Given the description of an element on the screen output the (x, y) to click on. 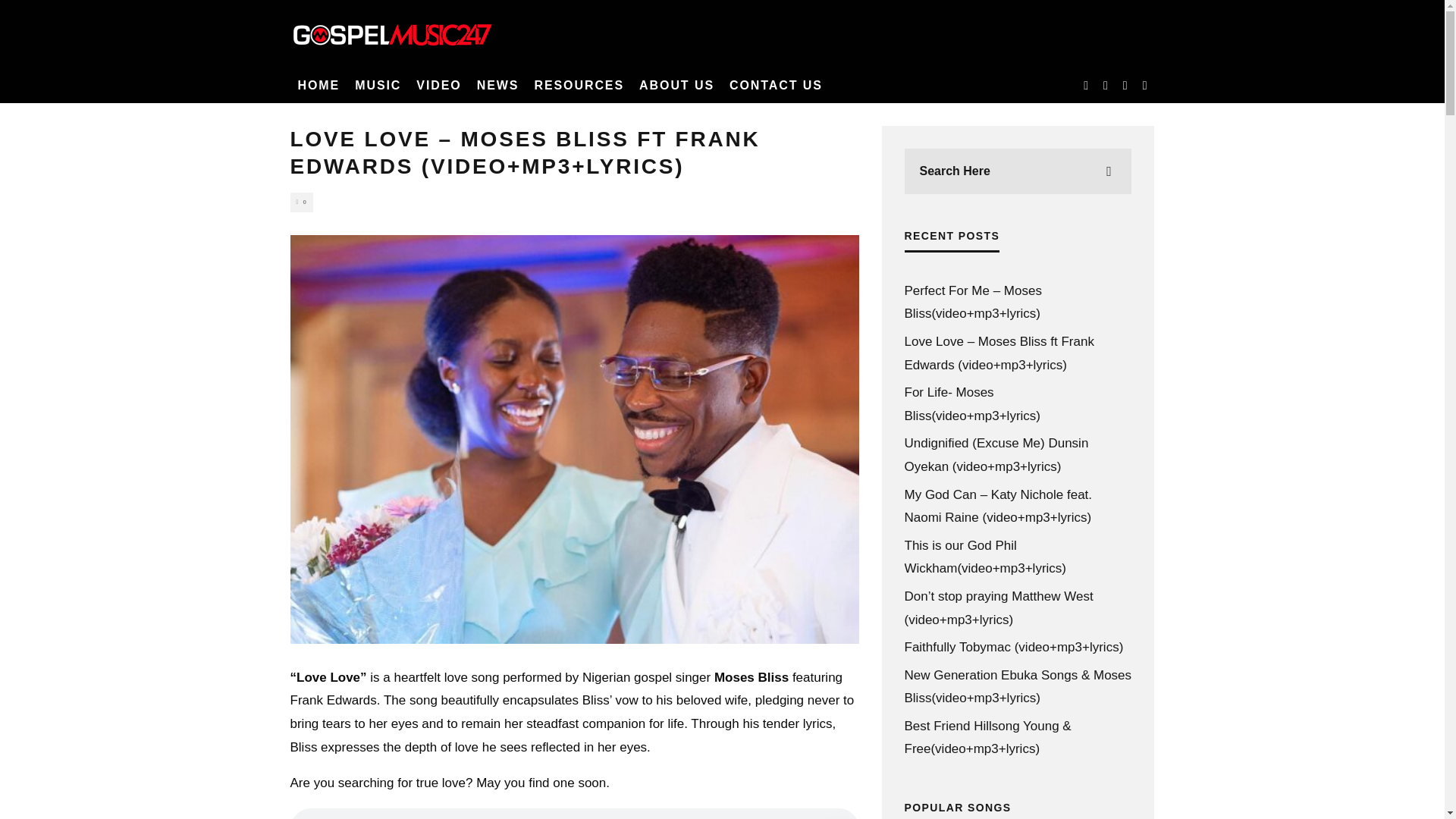
MUSIC (378, 85)
ABOUT US (676, 85)
RESOURCES (578, 85)
VIDEO (438, 85)
HOME (318, 85)
0 (301, 202)
NEWS (497, 85)
CONTACT US (775, 85)
